Given the description of an element on the screen output the (x, y) to click on. 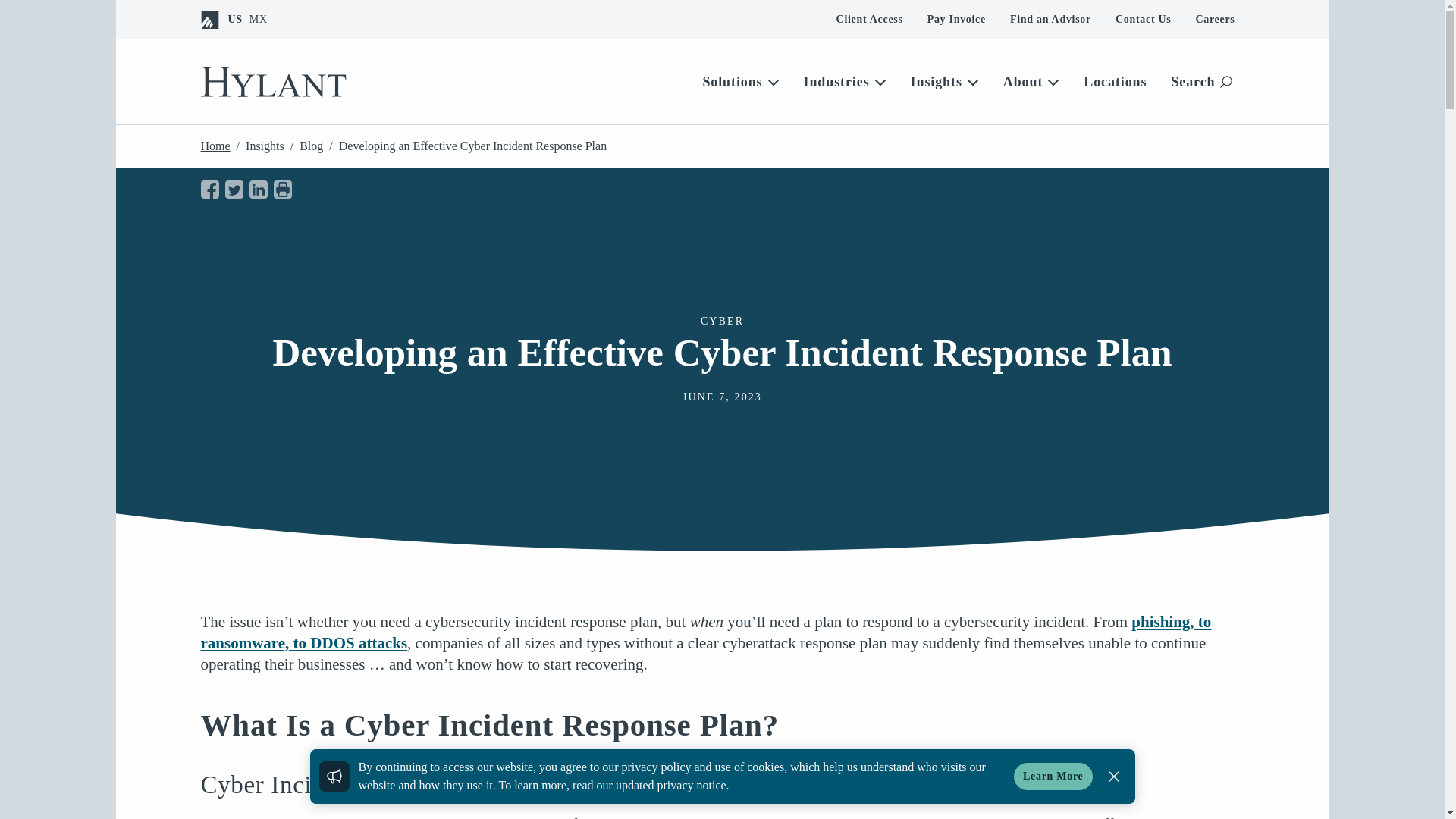
Pay Invoice (956, 19)
Solutions (740, 81)
MX (258, 19)
US (234, 19)
Learn More (1052, 776)
Contact Us (1143, 19)
Find an Advisor (1050, 19)
Client Access (869, 19)
Dismiss (1112, 776)
